Given the description of an element on the screen output the (x, y) to click on. 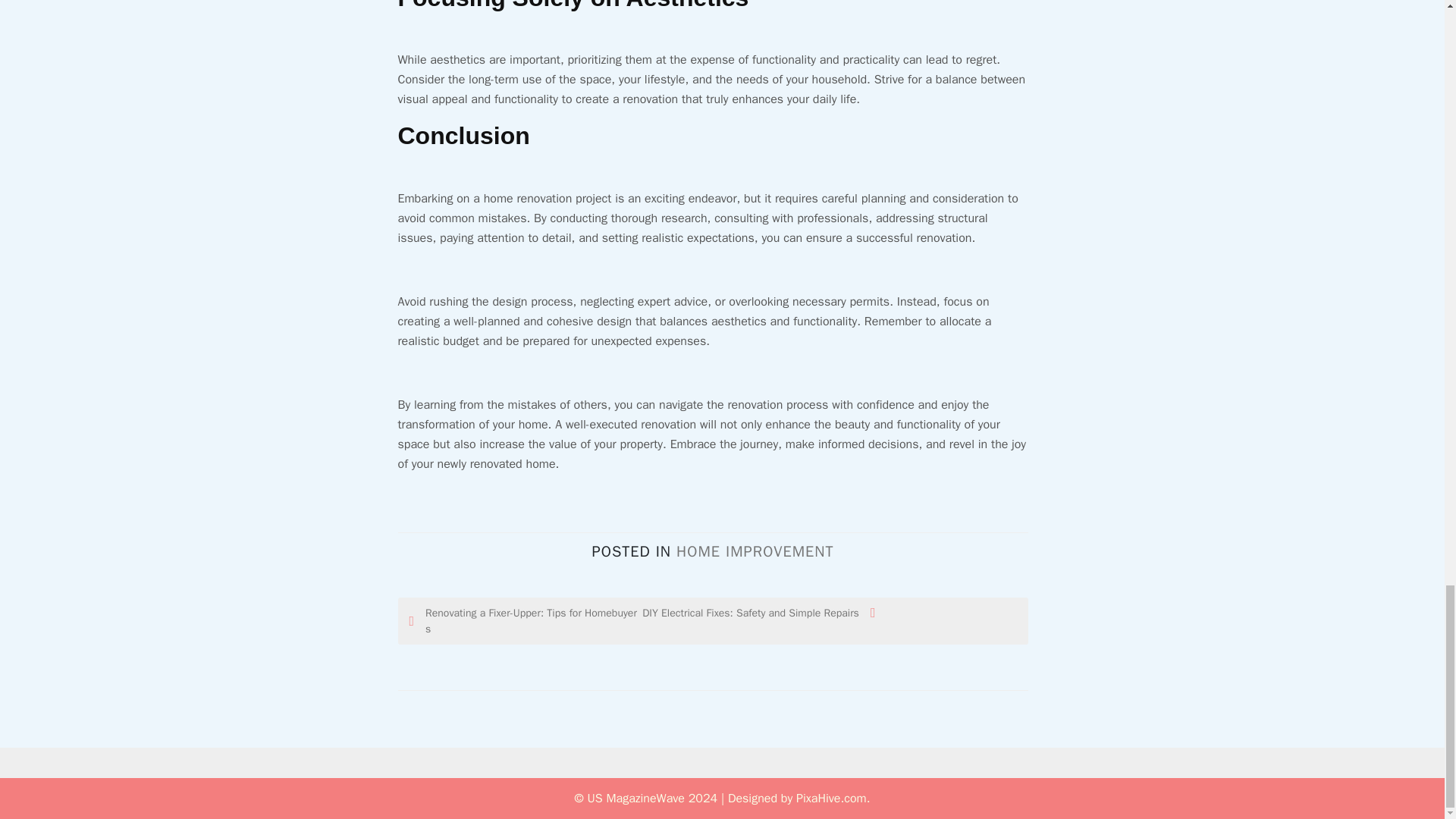
HOME IMPROVEMENT (754, 551)
Renovating a Fixer-Upper: Tips for Homebuyers (525, 621)
